Given the description of an element on the screen output the (x, y) to click on. 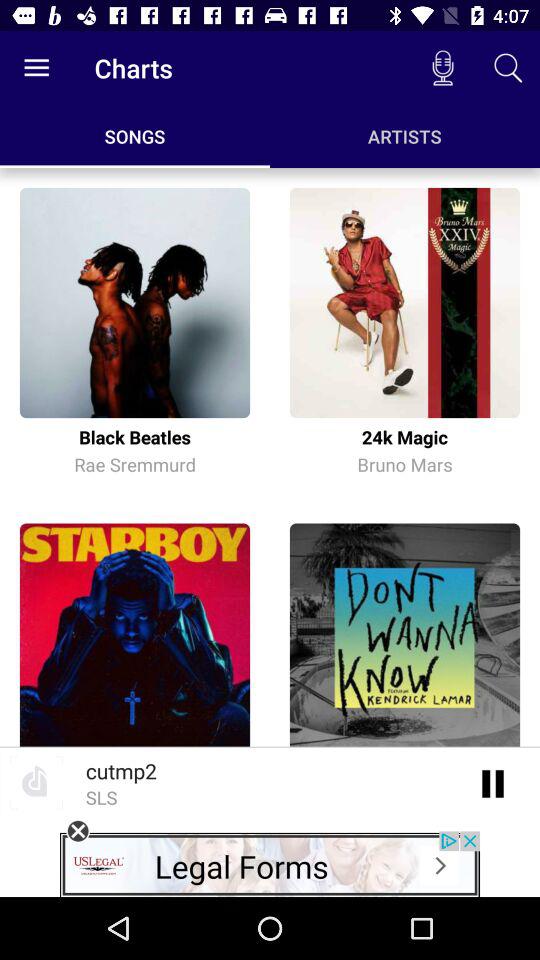
coles (78, 831)
